Given the description of an element on the screen output the (x, y) to click on. 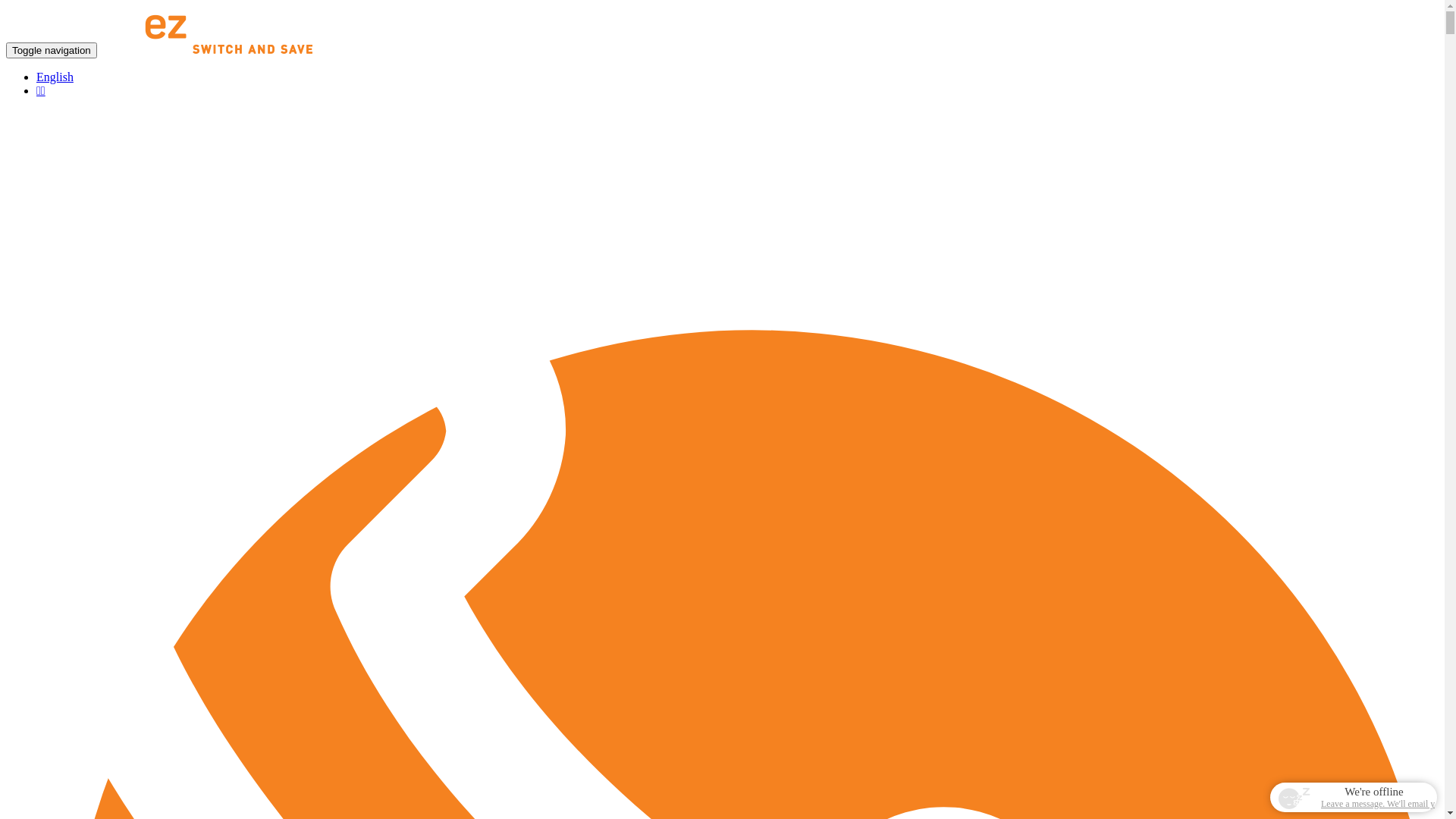
Toggle navigation Element type: text (51, 50)
English Element type: text (54, 76)
